Given the description of an element on the screen output the (x, y) to click on. 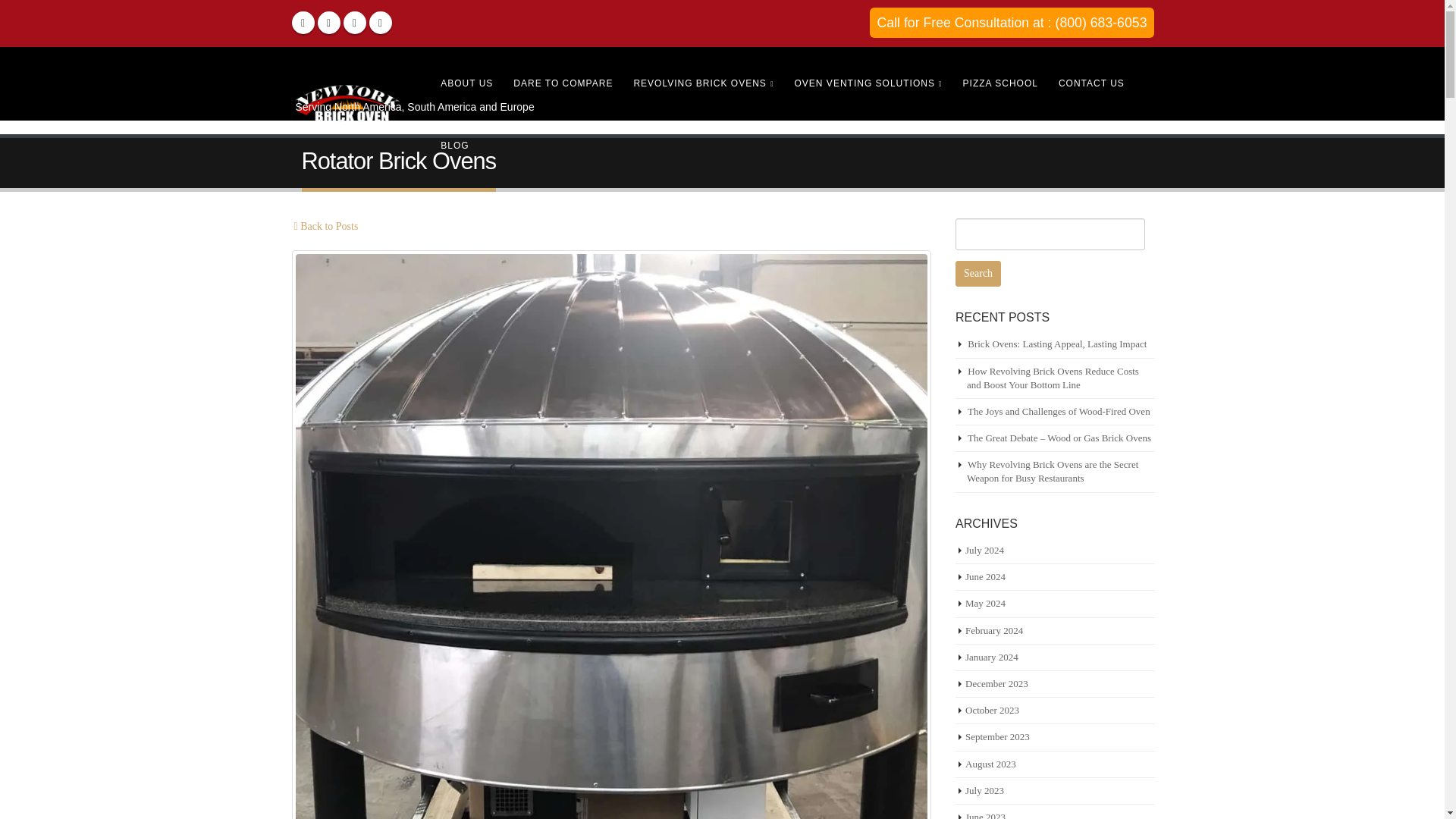
Search (978, 273)
Contact Us (1091, 77)
Dare To Compare (562, 77)
OVEN VENTING SOLUTIONS (868, 77)
Brick Ovens For Sale - NY Brick Ovens Company (348, 108)
ABOUT US (465, 77)
CONTACT US (1091, 77)
DuraVent (868, 77)
Youtube (353, 22)
Facebook (302, 22)
About Us (465, 77)
Revolving Brick Ovens (703, 77)
Pizza Consulting (1000, 77)
Instagram (379, 22)
DARE TO COMPARE (562, 77)
